Given the description of an element on the screen output the (x, y) to click on. 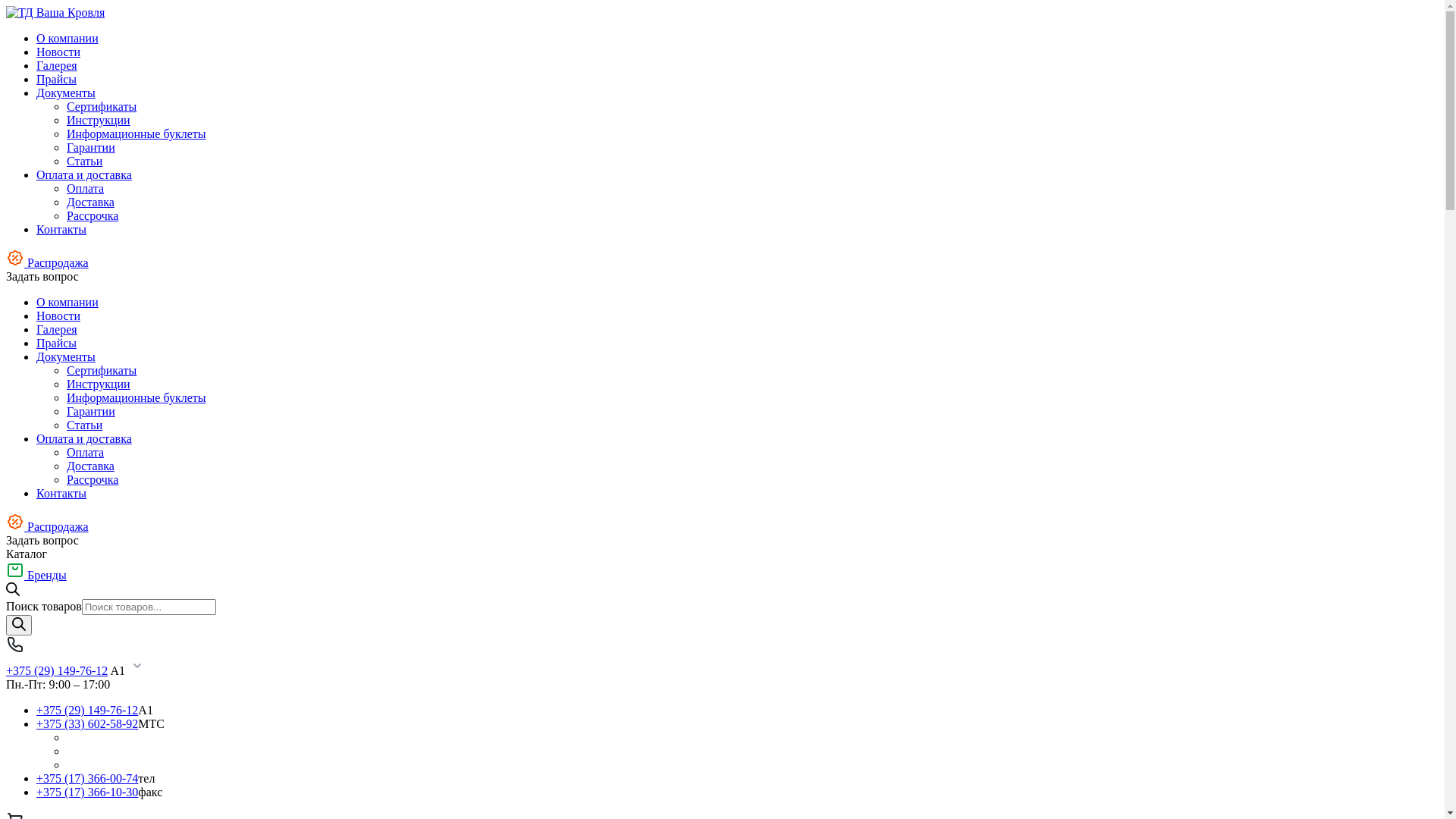
+375 (29) 149-76-12 Element type: text (87, 709)
+375 (29) 149-76-12 Element type: text (56, 670)
+375 (33) 602-58-92 Element type: text (87, 723)
+375 (17) 366-10-30 Element type: text (87, 791)
+375 (17) 366-00-74 Element type: text (87, 777)
